Given the description of an element on the screen output the (x, y) to click on. 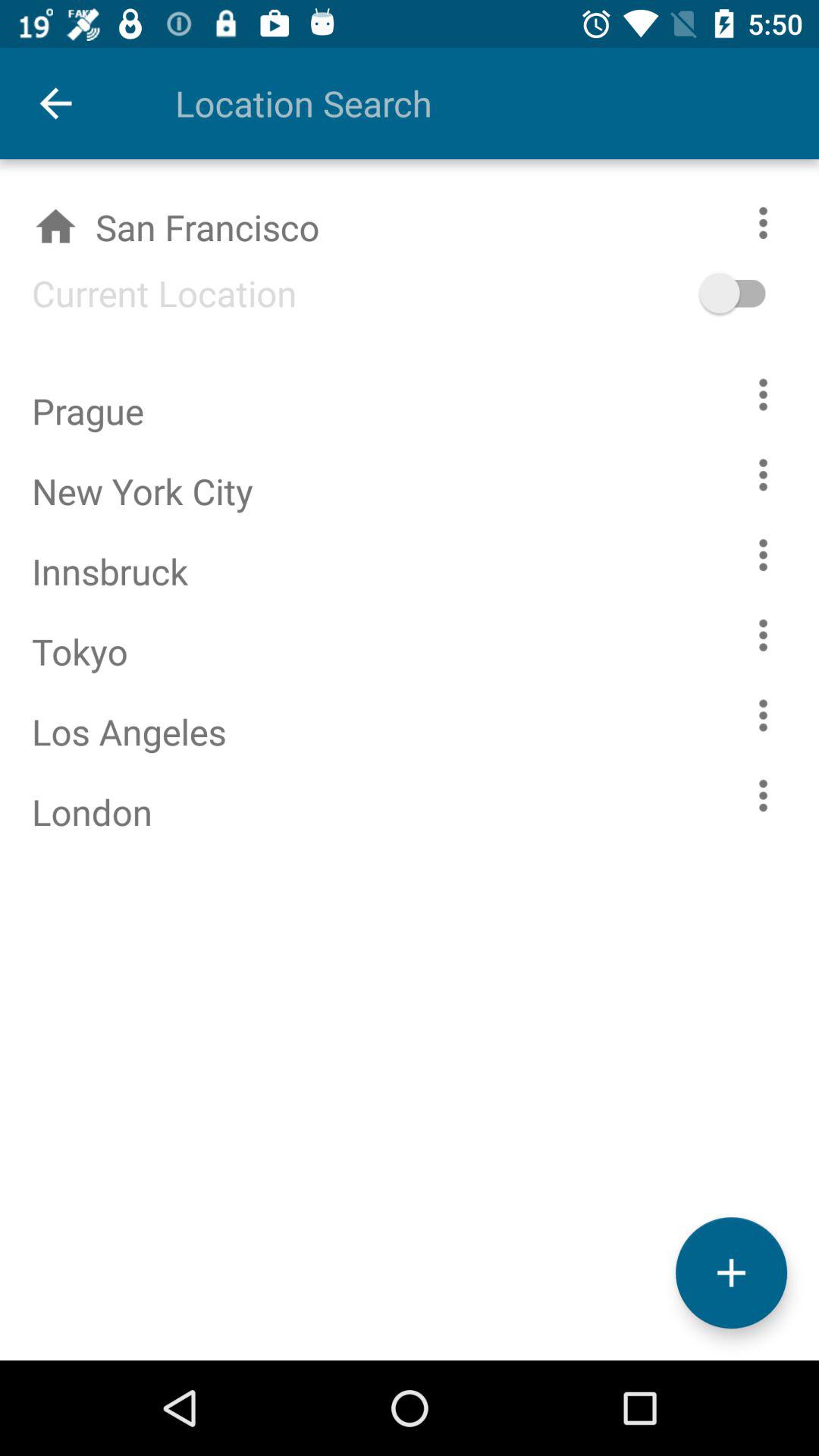
see more options (763, 635)
